Given the description of an element on the screen output the (x, y) to click on. 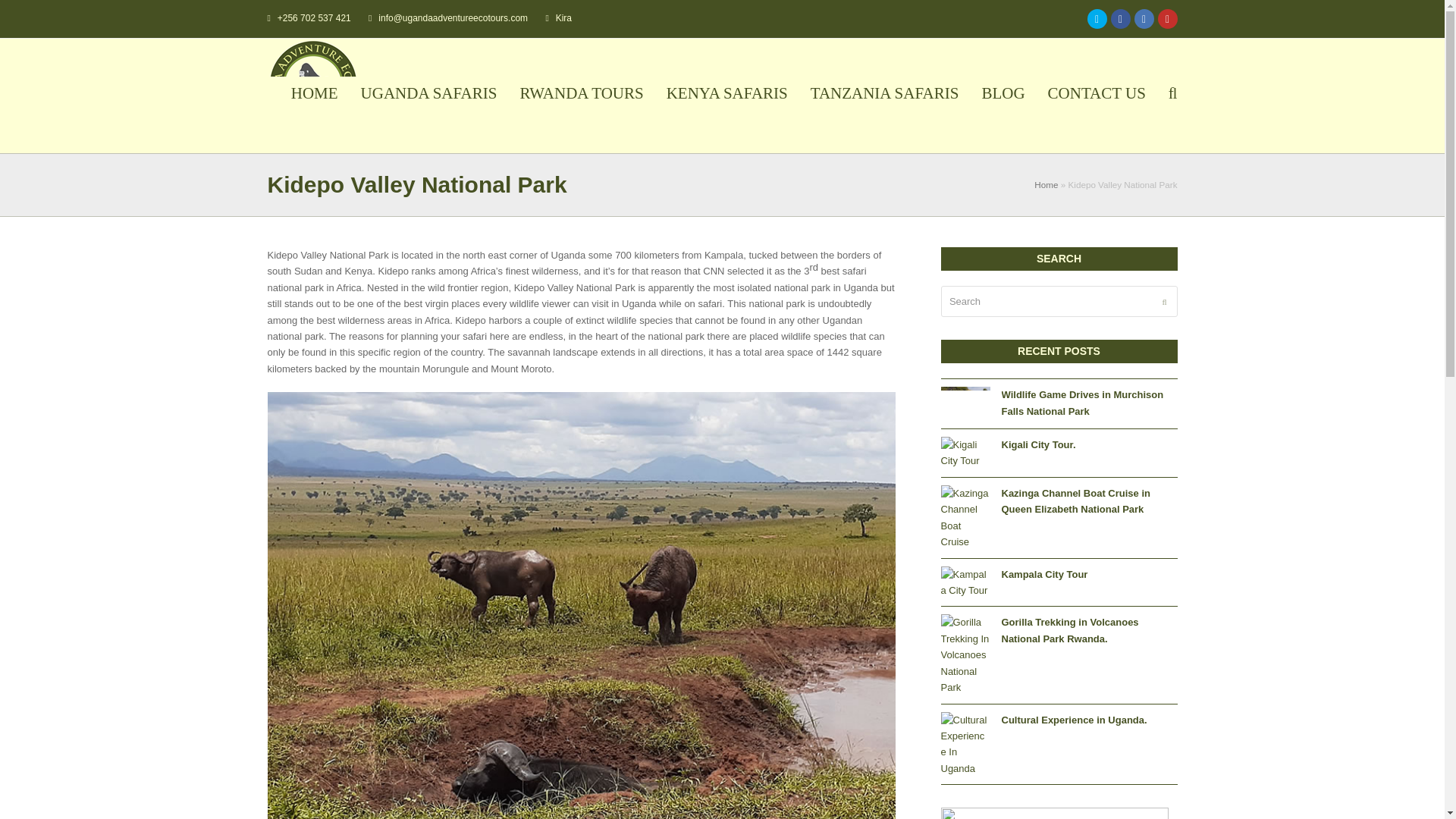
Twitter (1096, 18)
Home (1045, 184)
Twitter (1096, 18)
HOME (314, 95)
TANZANIA SAFARIS (885, 95)
Wildlife Game Drives in Murchison Falls National Park (965, 403)
Kazinga Channel Boat Cruise in Queen Elizabeth National Park (1075, 501)
Kampala City Tour (965, 582)
Youtube (1166, 18)
LinkedIn (1144, 18)
BLOG (1002, 95)
Youtube (1166, 18)
Cultural Experience in Uganda. (1074, 719)
LinkedIn (1144, 18)
UGANDA SAFARIS (428, 95)
